Given the description of an element on the screen output the (x, y) to click on. 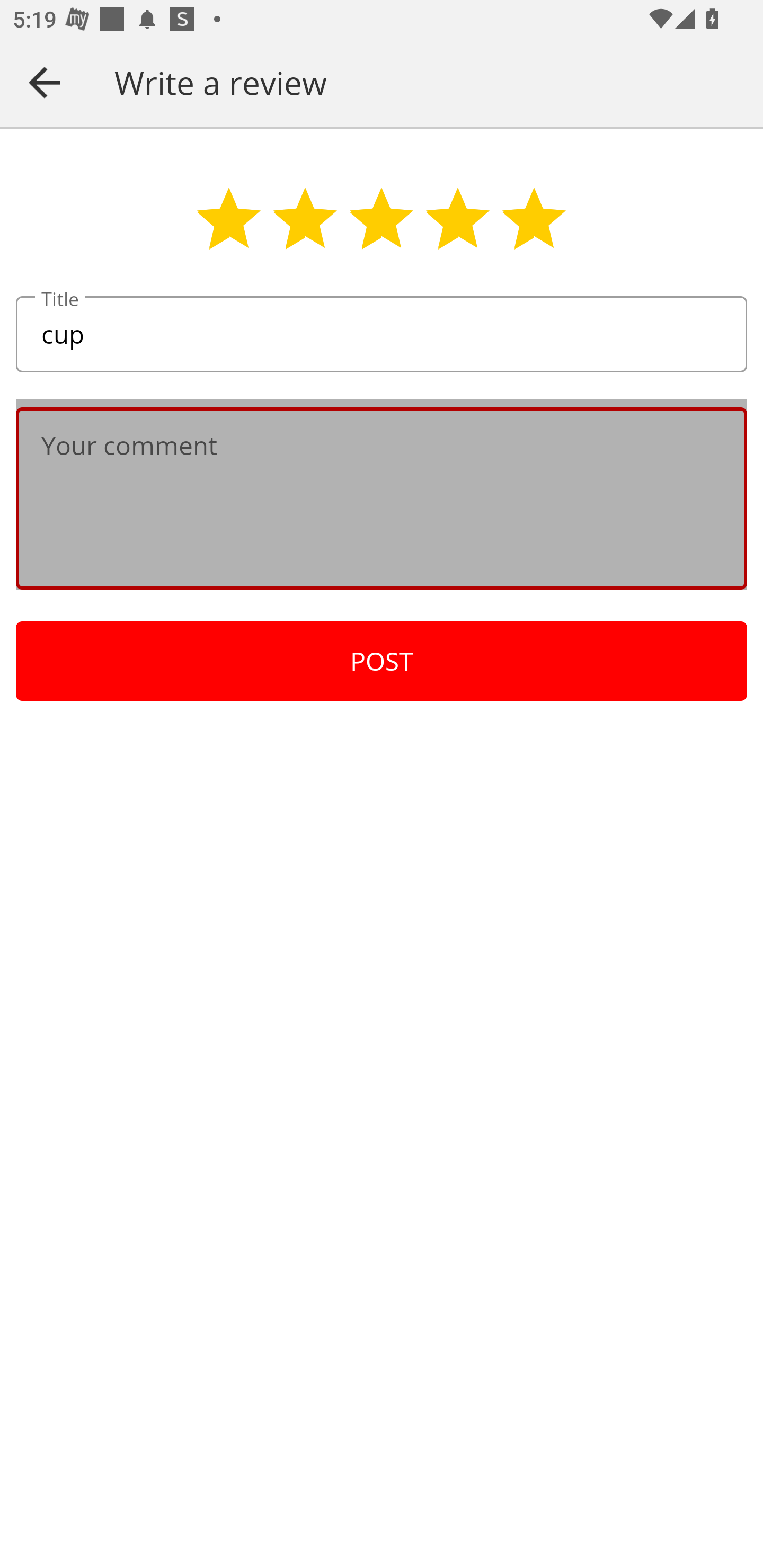
Navigate up (44, 82)
cup (381, 334)
Your comment (381, 498)
POST (381, 660)
